Given the description of an element on the screen output the (x, y) to click on. 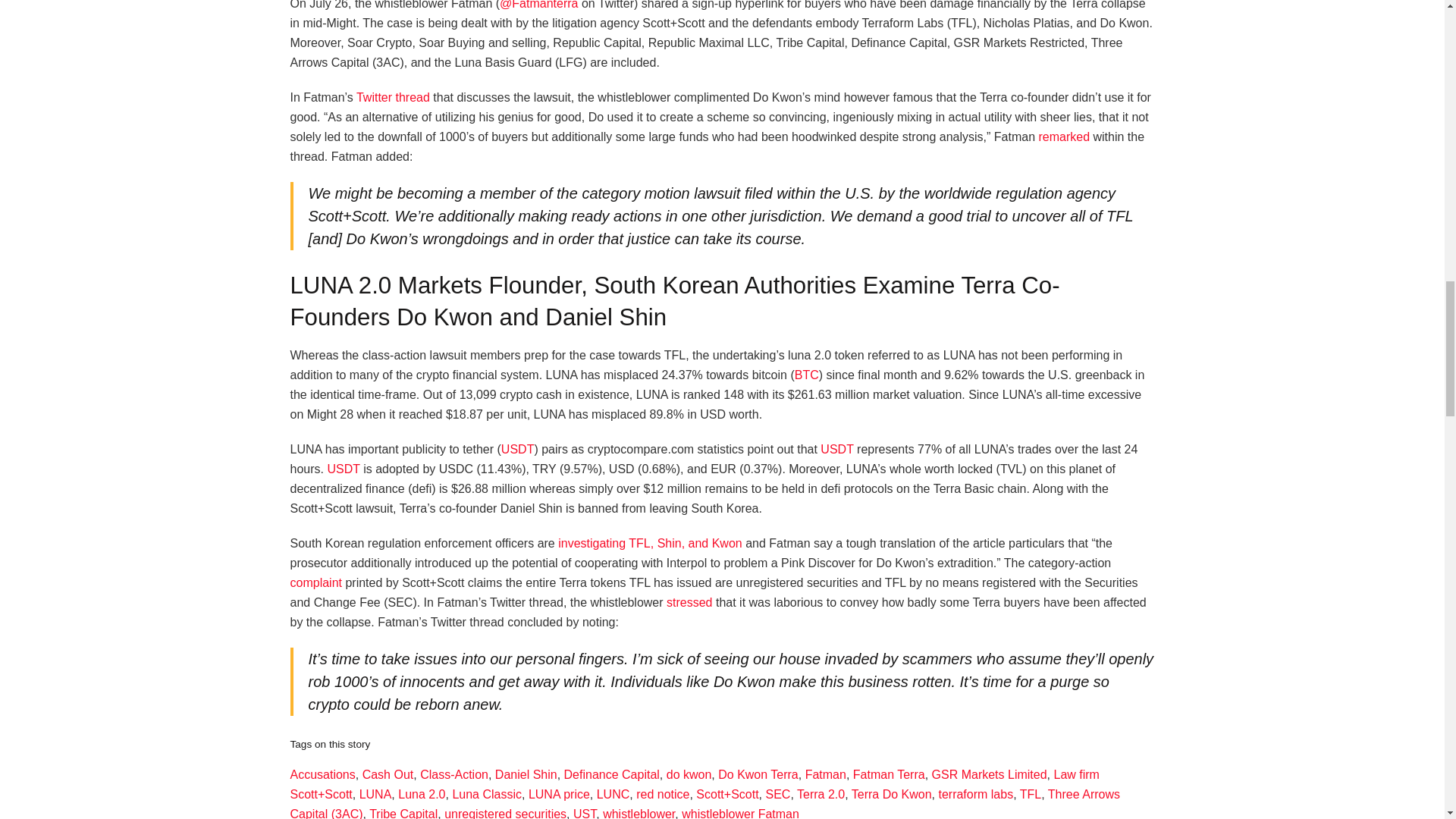
USDT (517, 449)
BTC (806, 374)
Twitter thread (392, 97)
remarked (1063, 136)
USDT (837, 449)
